Given the description of an element on the screen output the (x, y) to click on. 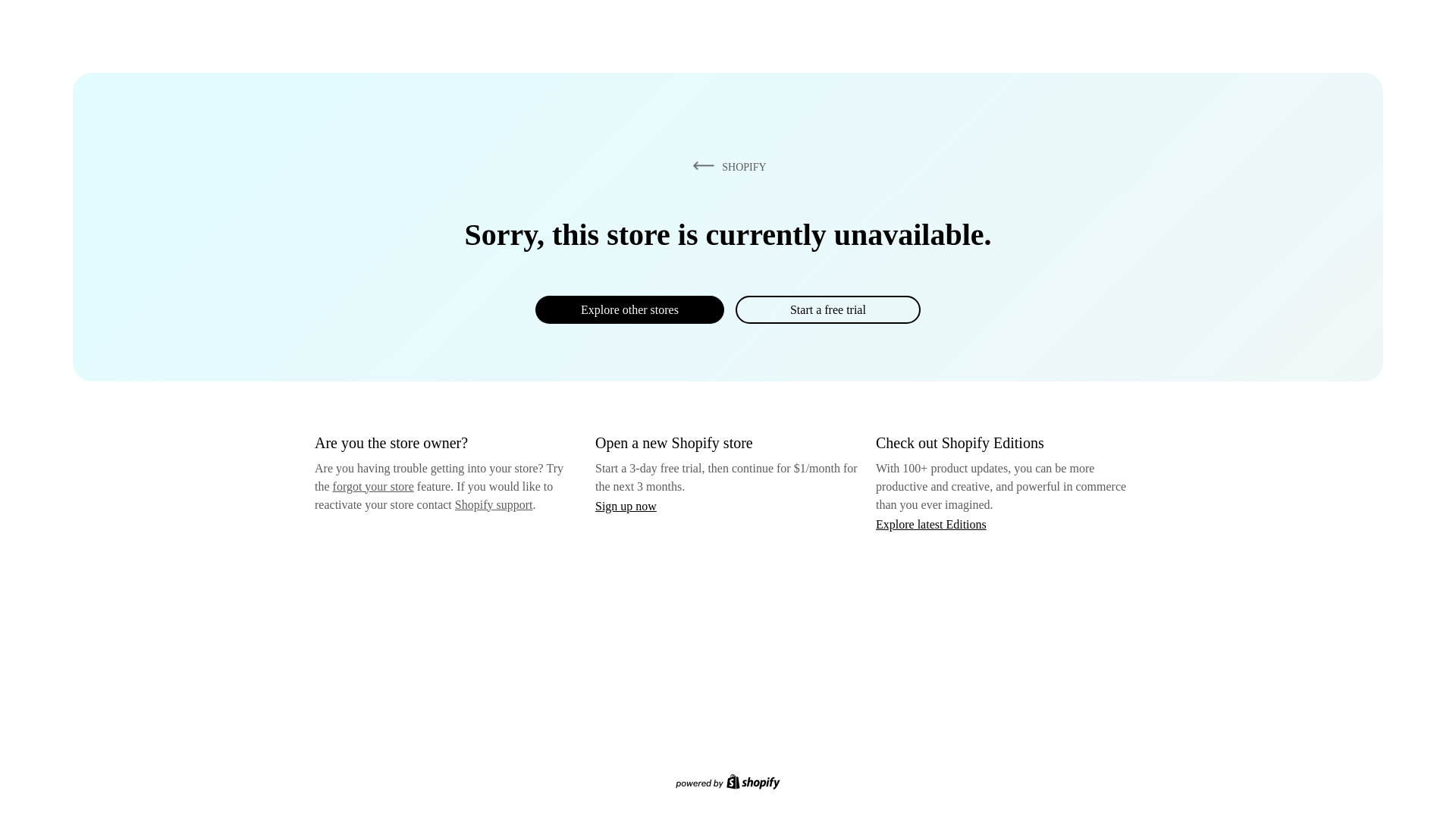
Sign up now (625, 505)
Start a free trial (827, 309)
SHOPIFY (726, 166)
forgot your store (373, 486)
Shopify support (493, 504)
Explore latest Editions (931, 523)
Explore other stores (629, 309)
